Given the description of an element on the screen output the (x, y) to click on. 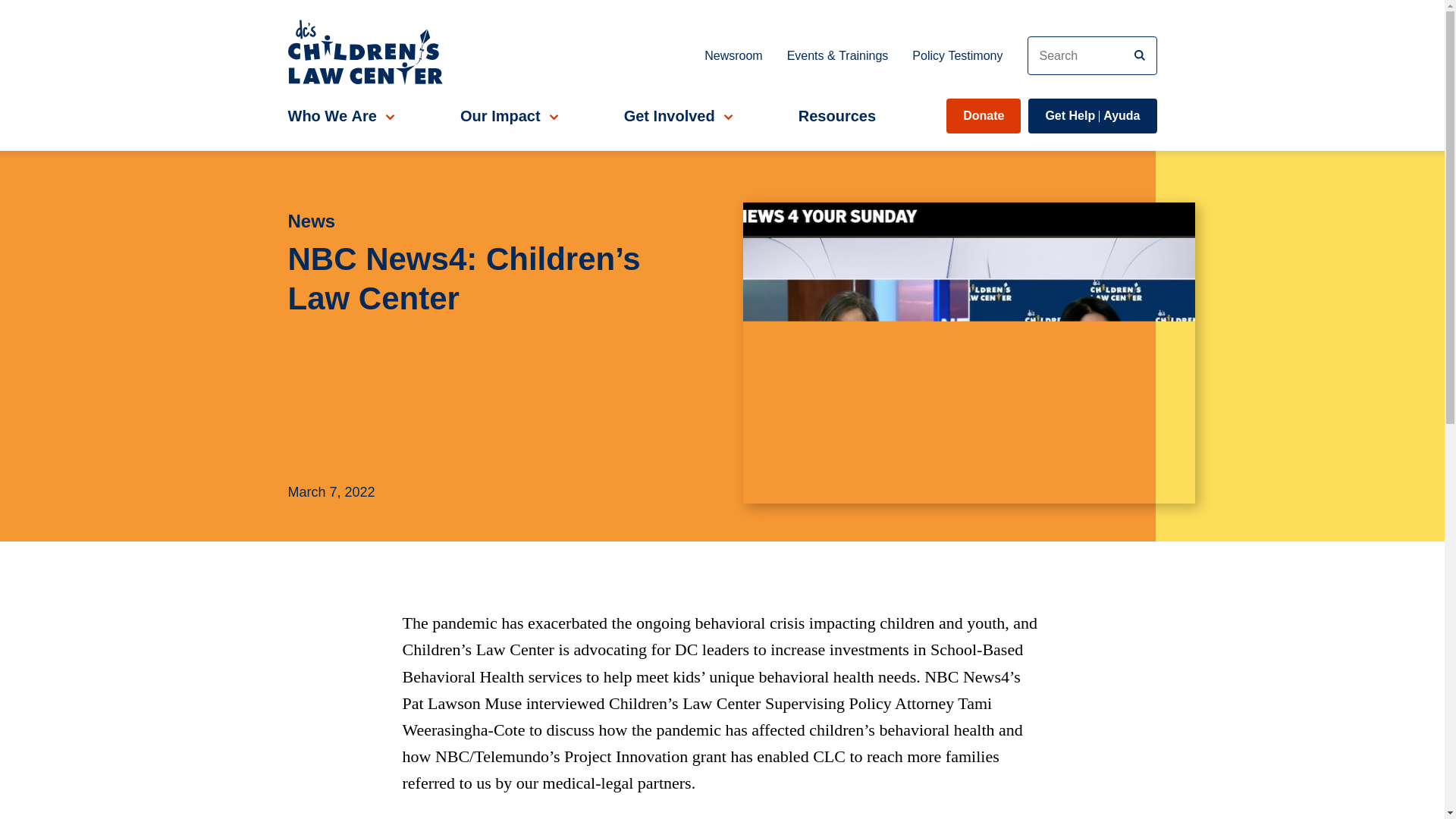
Policy Testimony (957, 54)
Donate (983, 115)
News (480, 220)
Who We Are (339, 115)
Get Involved (676, 115)
Newsroom (1091, 115)
Resources (732, 54)
Our Impact (836, 115)
Submit search (506, 115)
